Given the description of an element on the screen output the (x, y) to click on. 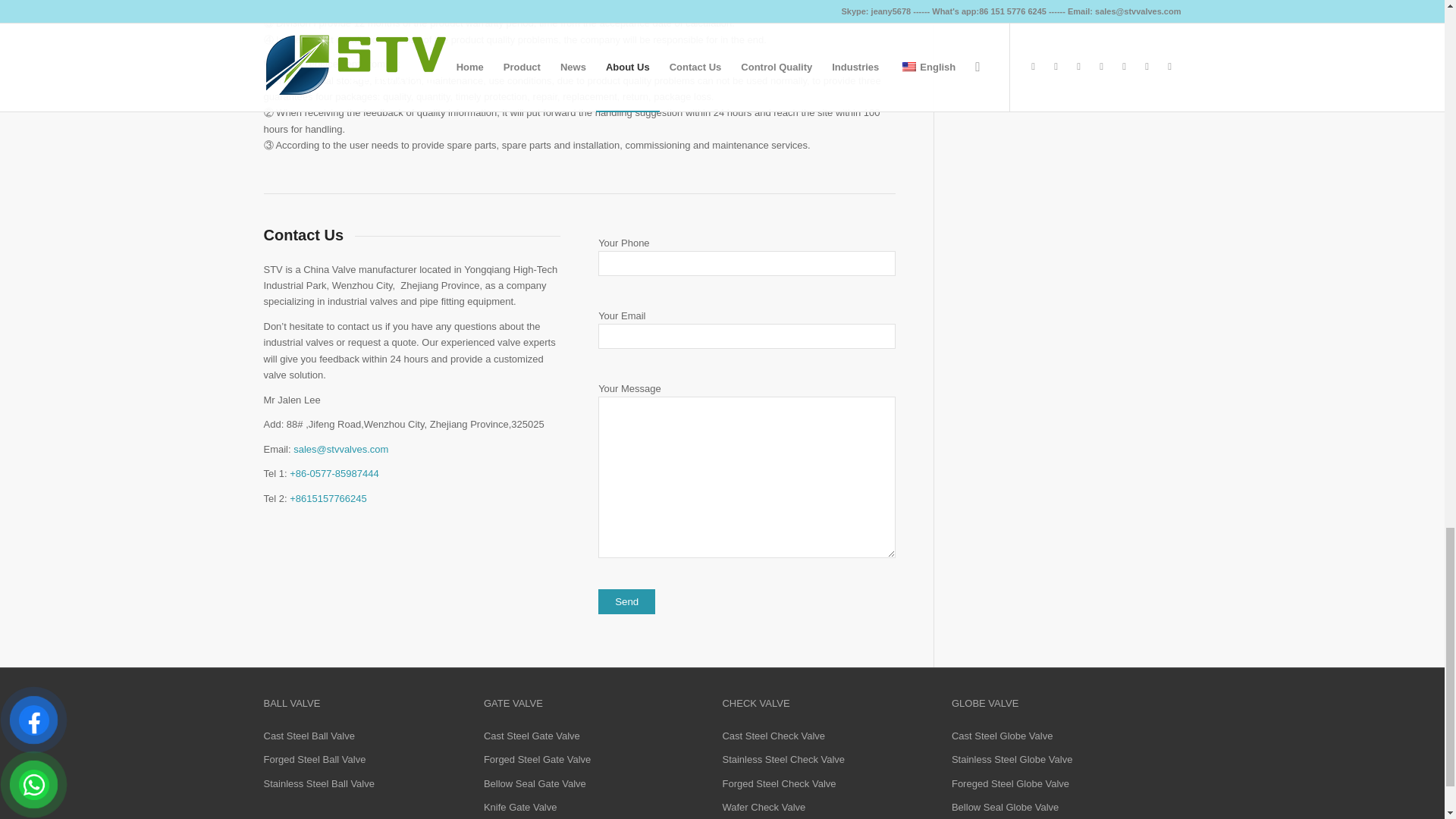
Send (626, 601)
